Given the description of an element on the screen output the (x, y) to click on. 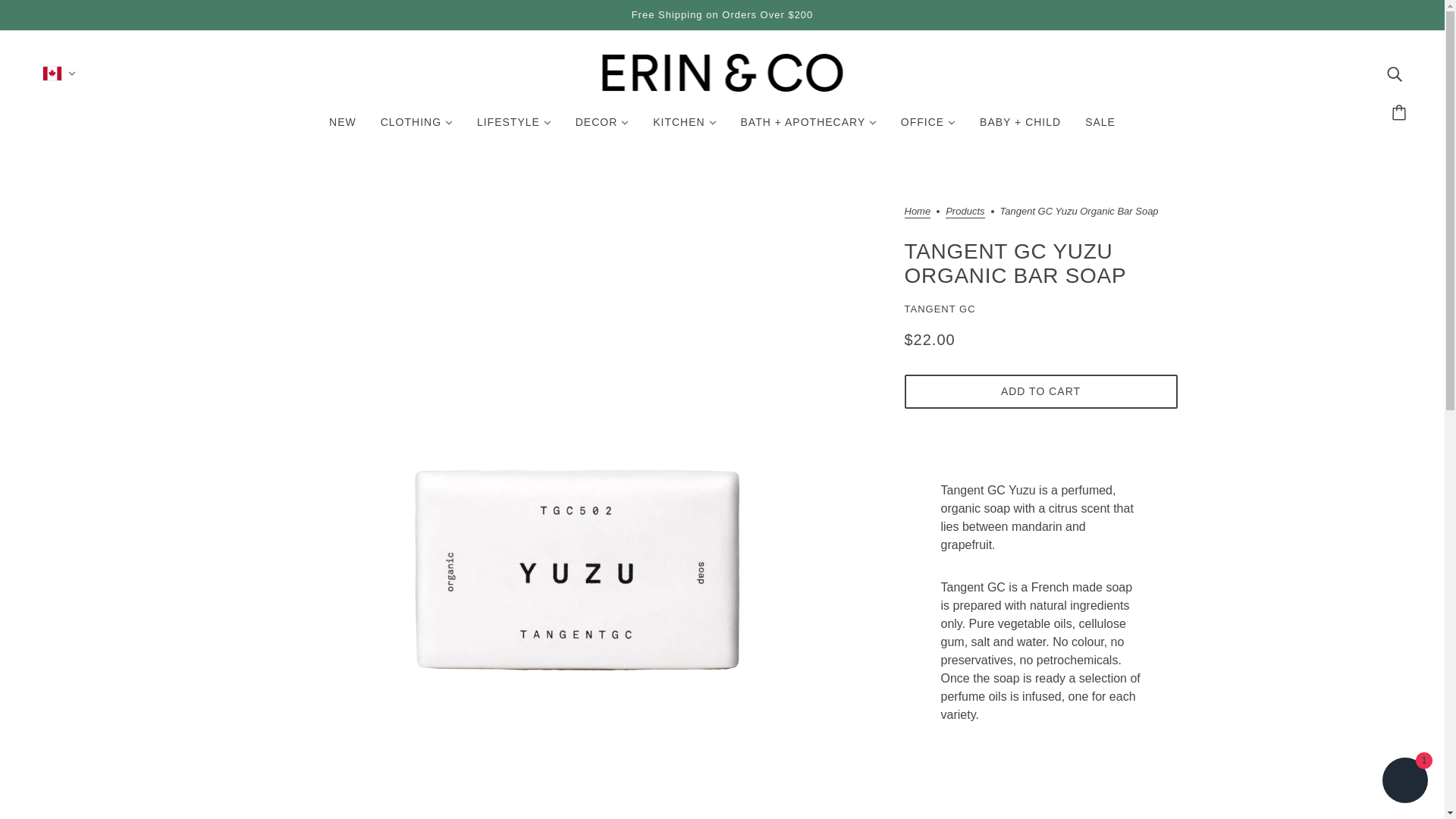
CLOTHING  (416, 127)
NEW (342, 127)
LIFESTYLE  (513, 127)
Shopify online store chat (1404, 781)
DECOR  (601, 127)
